Given the description of an element on the screen output the (x, y) to click on. 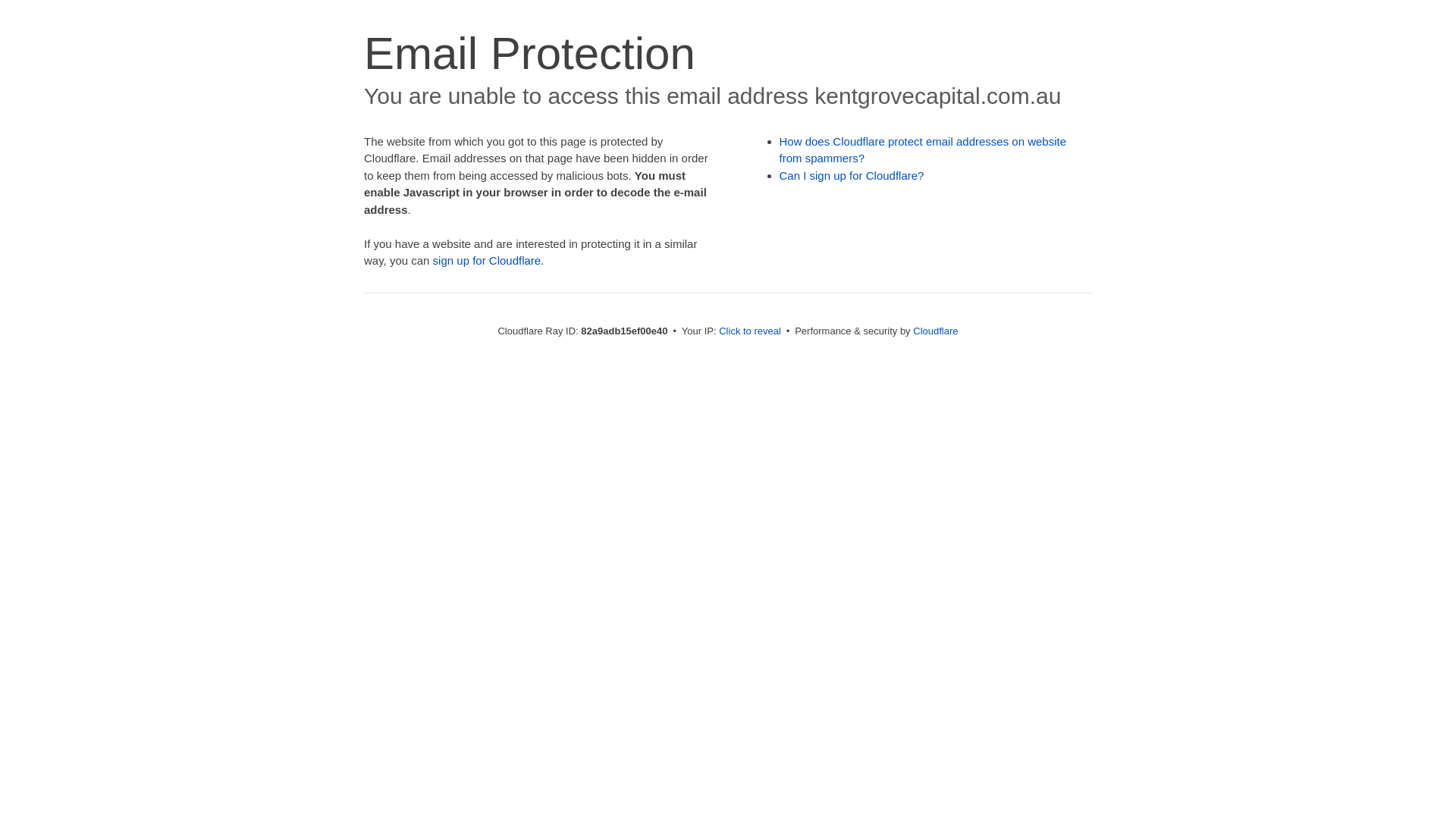
Click to reveal Element type: text (749, 330)
Cloudflare Element type: text (935, 330)
sign up for Cloudflare Element type: text (487, 260)
Can I sign up for Cloudflare? Element type: text (851, 175)
